Given the description of an element on the screen output the (x, y) to click on. 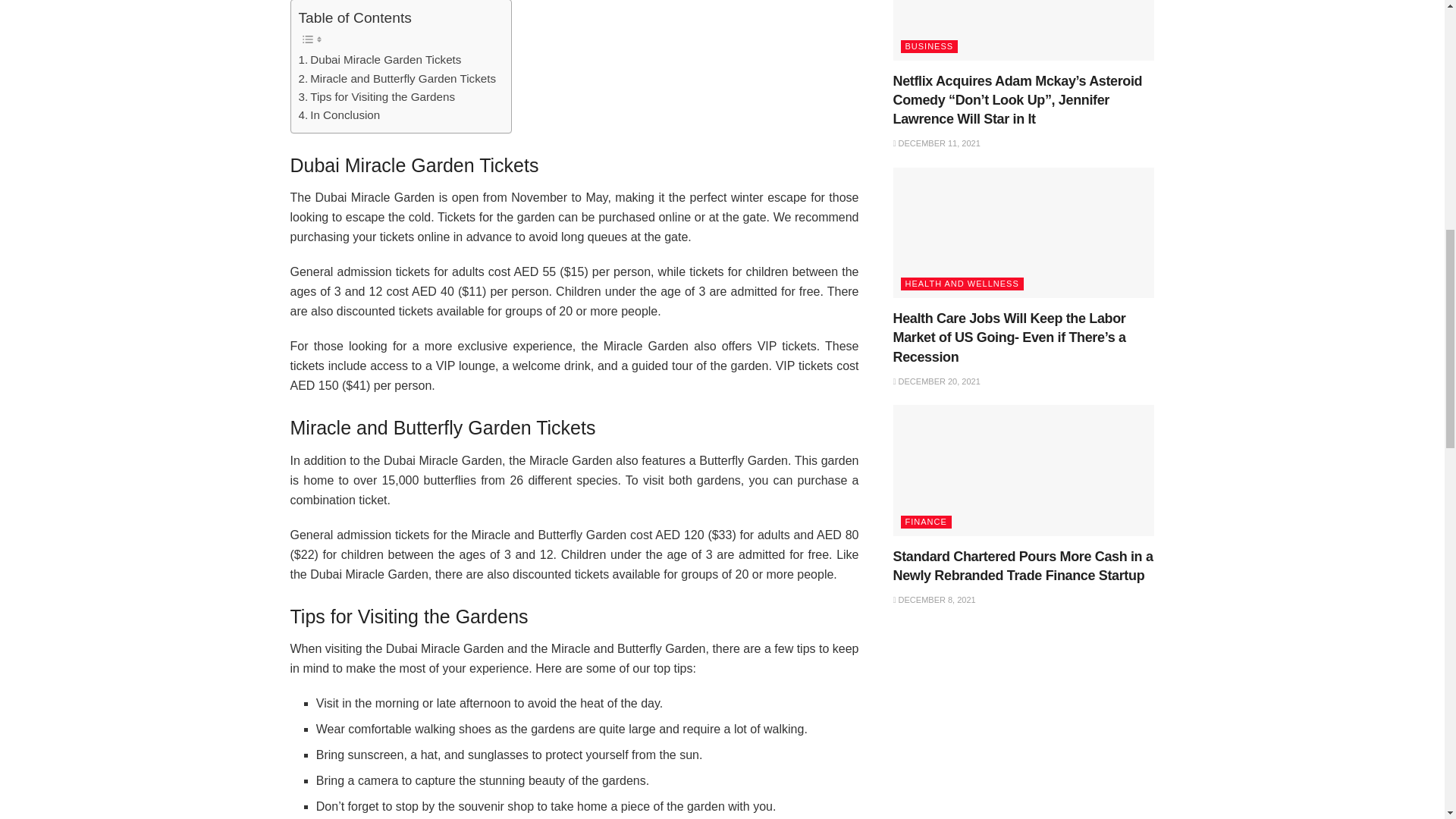
In Conclusion (339, 115)
Miracle and Butterfly Garden Tickets (397, 78)
In Conclusion (339, 115)
Tips for Visiting the Gardens (376, 96)
Tips for Visiting the Gardens (376, 96)
Dubai Miracle Garden Tickets (379, 59)
Miracle and Butterfly Garden Tickets (397, 78)
Dubai Miracle Garden Tickets (379, 59)
